Given the description of an element on the screen output the (x, y) to click on. 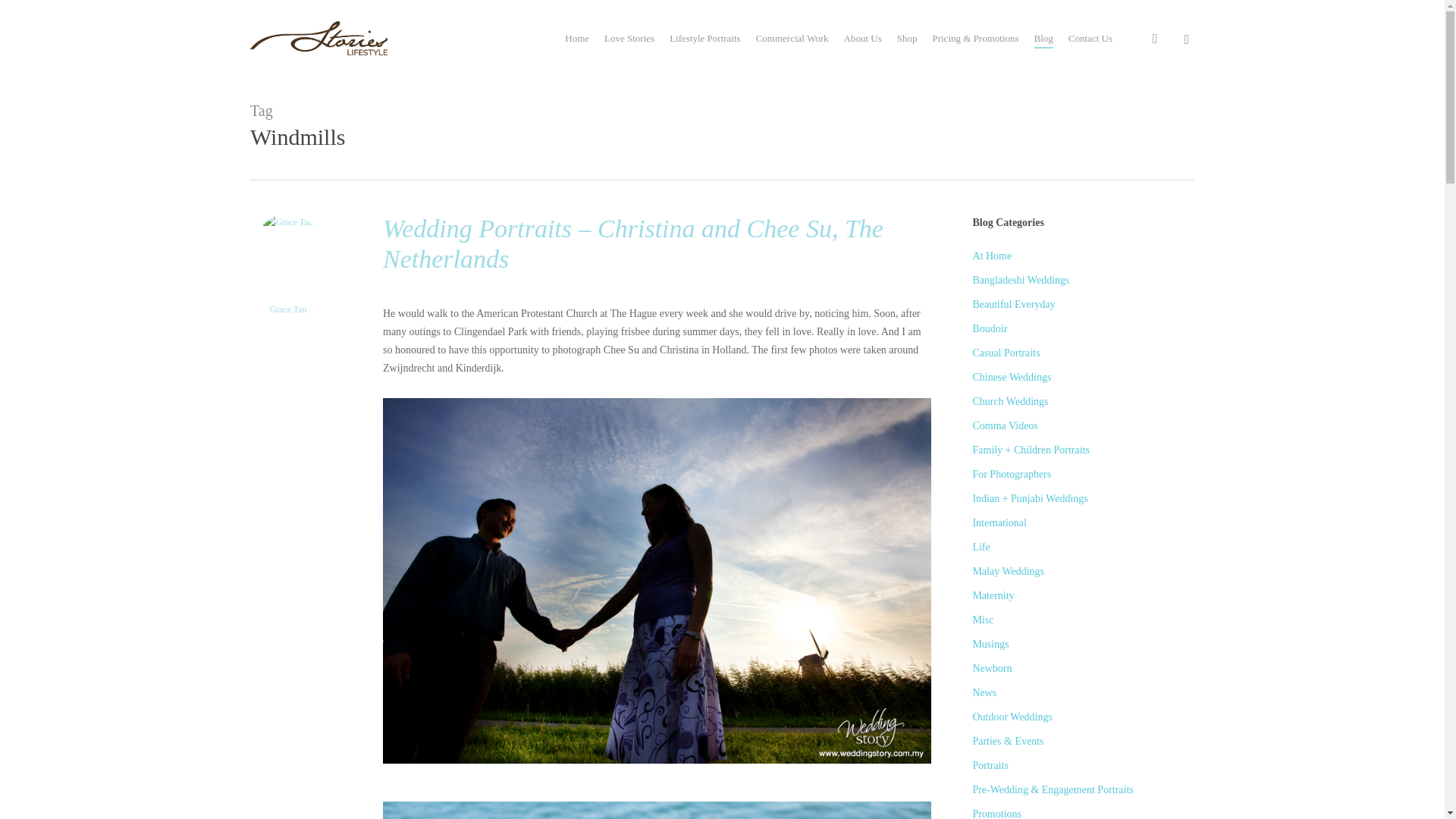
Posts by Grace Tan (287, 308)
Comma Videos (1082, 425)
Contact Us (1090, 38)
Beautiful Everyday (1082, 304)
Shop (906, 38)
For Photographers (1082, 475)
About Us (861, 38)
Church Weddings (1082, 402)
Grace Tan (287, 308)
Chinese Weddings (1082, 377)
Casual Portraits (1082, 352)
Love Stories (628, 38)
Bangladeshi Weddings (1082, 280)
Commercial Work (791, 38)
search (1154, 37)
